Given the description of an element on the screen output the (x, y) to click on. 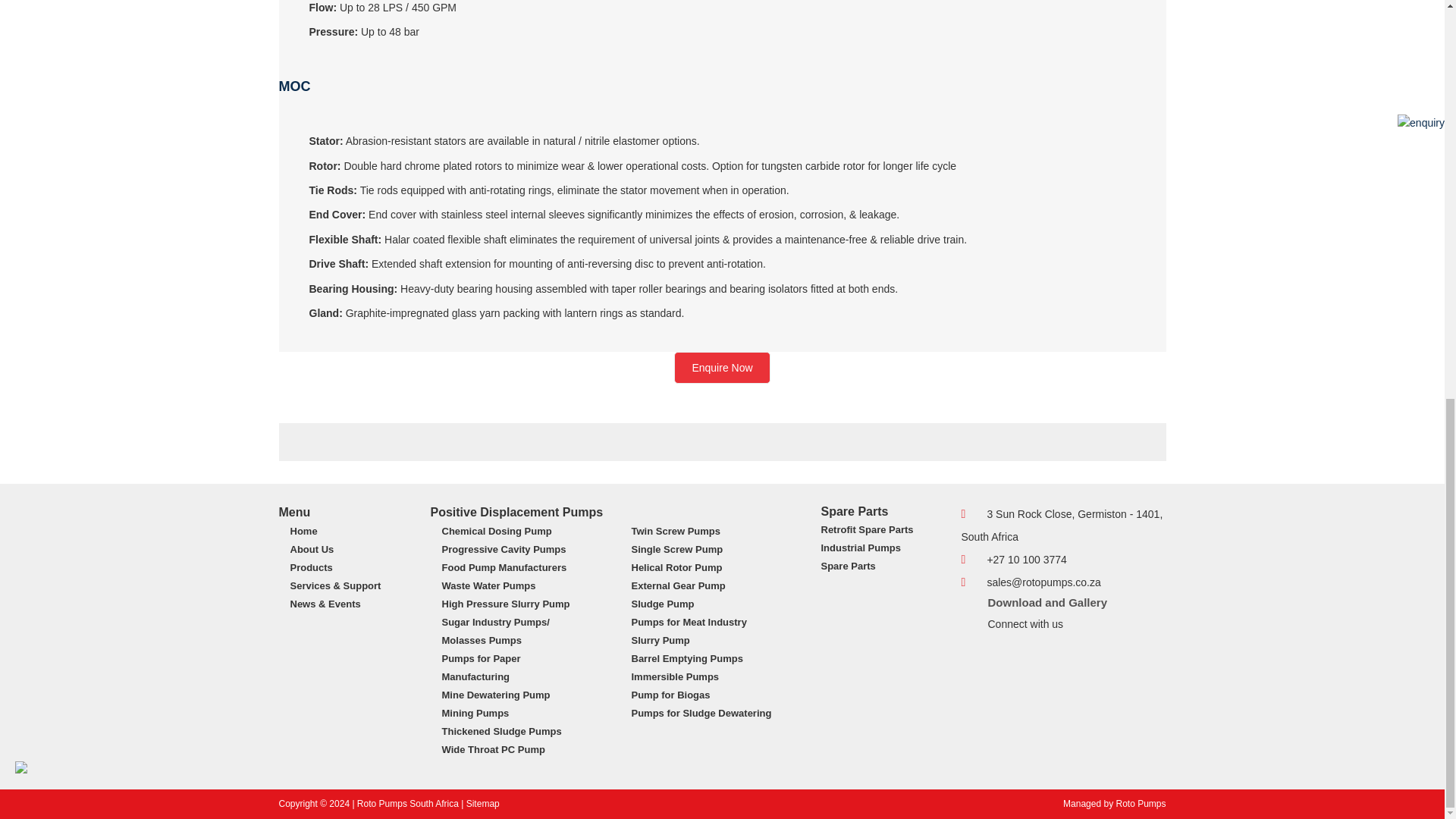
Positive Displacement Pumps (517, 512)
Positive Displacement Pumps (295, 512)
